Given the description of an element on the screen output the (x, y) to click on. 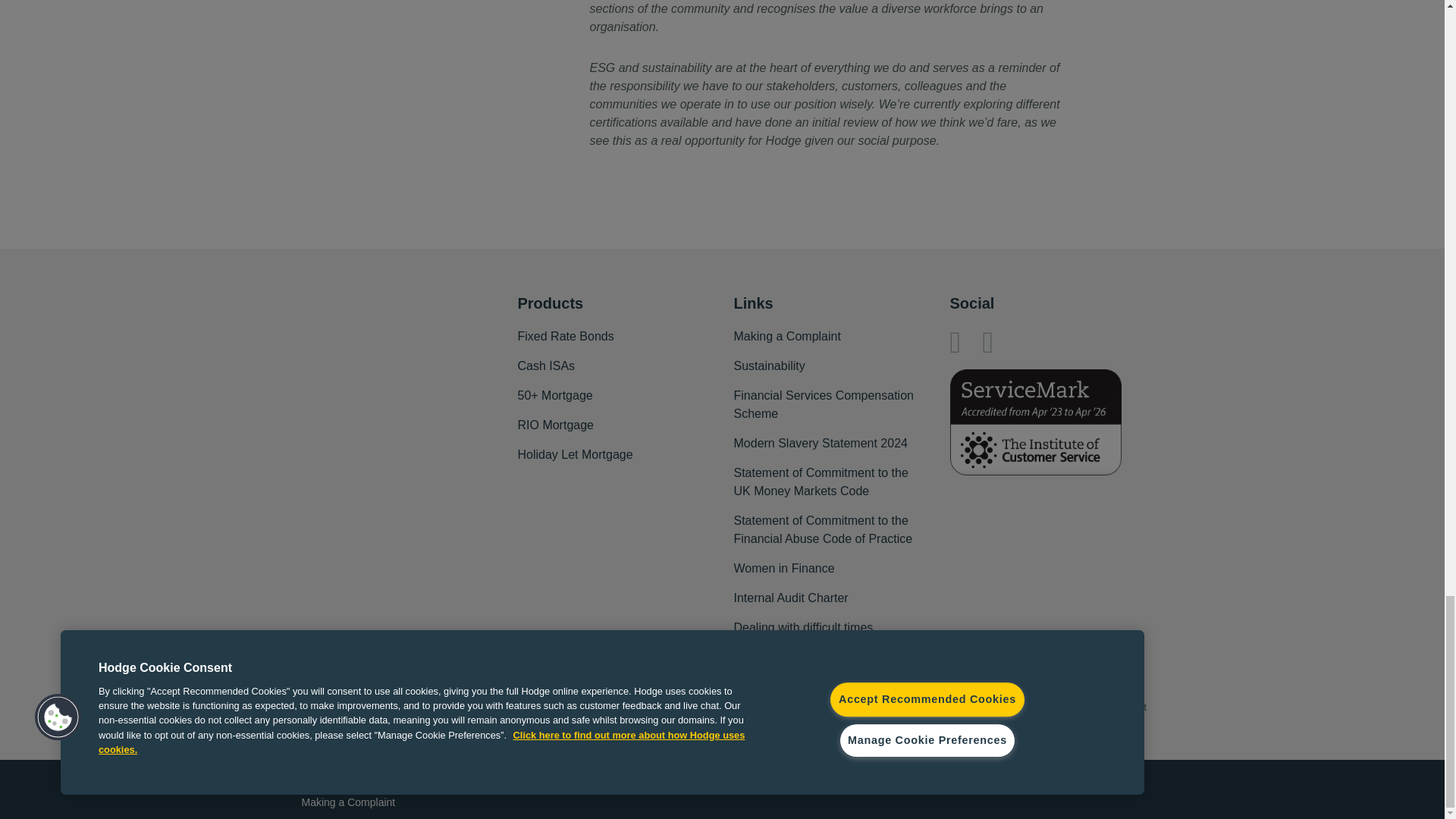
Internal Audit Charter (790, 598)
Privacy (394, 776)
Holiday Let Mortgage (573, 454)
Financial Services Compensation Scheme (823, 404)
Sustainability (769, 366)
RIO Mortgage (554, 425)
Cash ISAs (545, 366)
Women in Finance (783, 568)
Dealing with difficult times (803, 627)
Fixed Rate Bonds (564, 336)
Cookies (320, 776)
Making a Complaint (787, 336)
Statement of Commitment to the UK Money Markets Code (820, 481)
Modern Slavery Statement 2024 (820, 443)
